Given the description of an element on the screen output the (x, y) to click on. 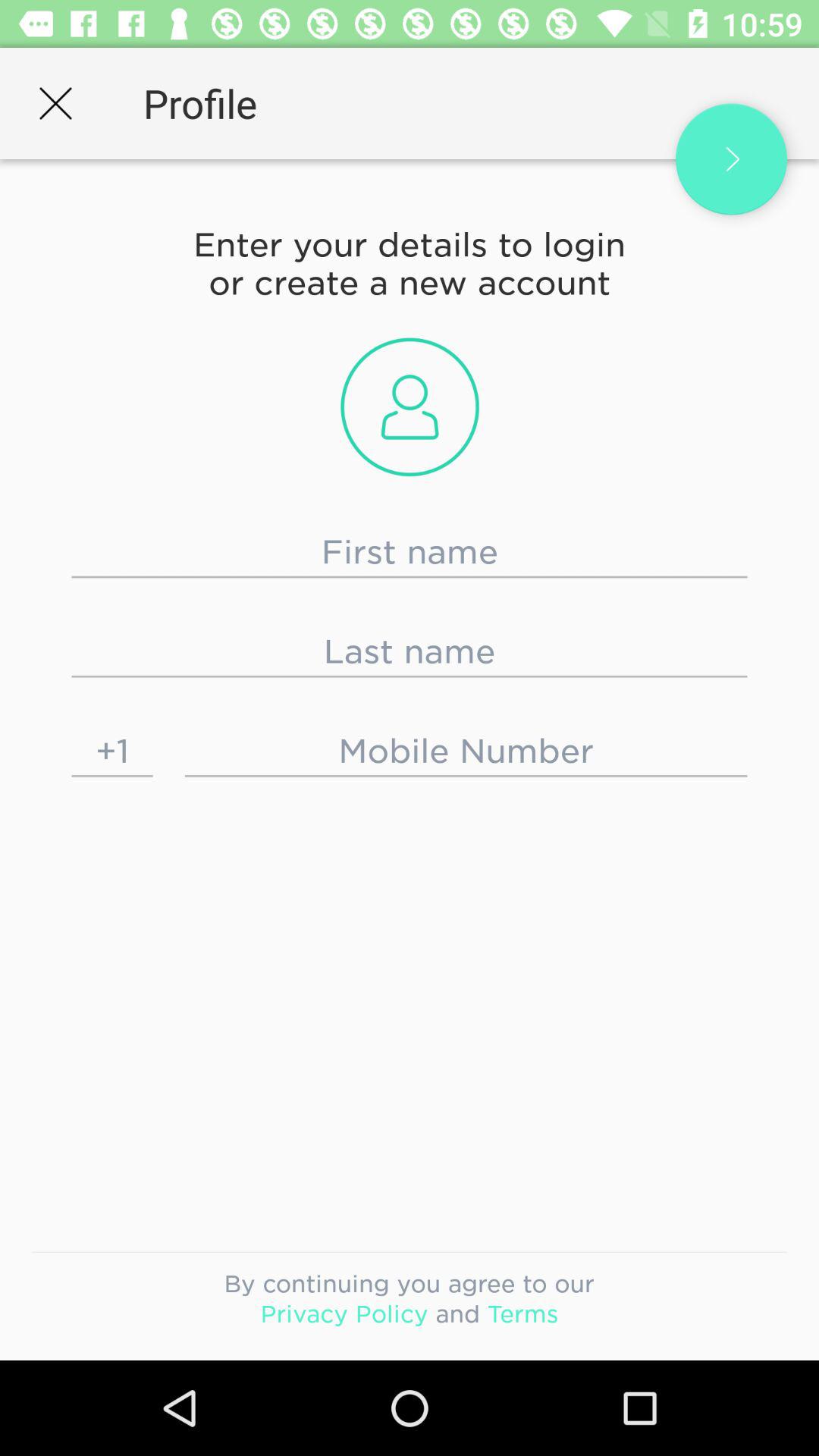
name box (409, 551)
